Given the description of an element on the screen output the (x, y) to click on. 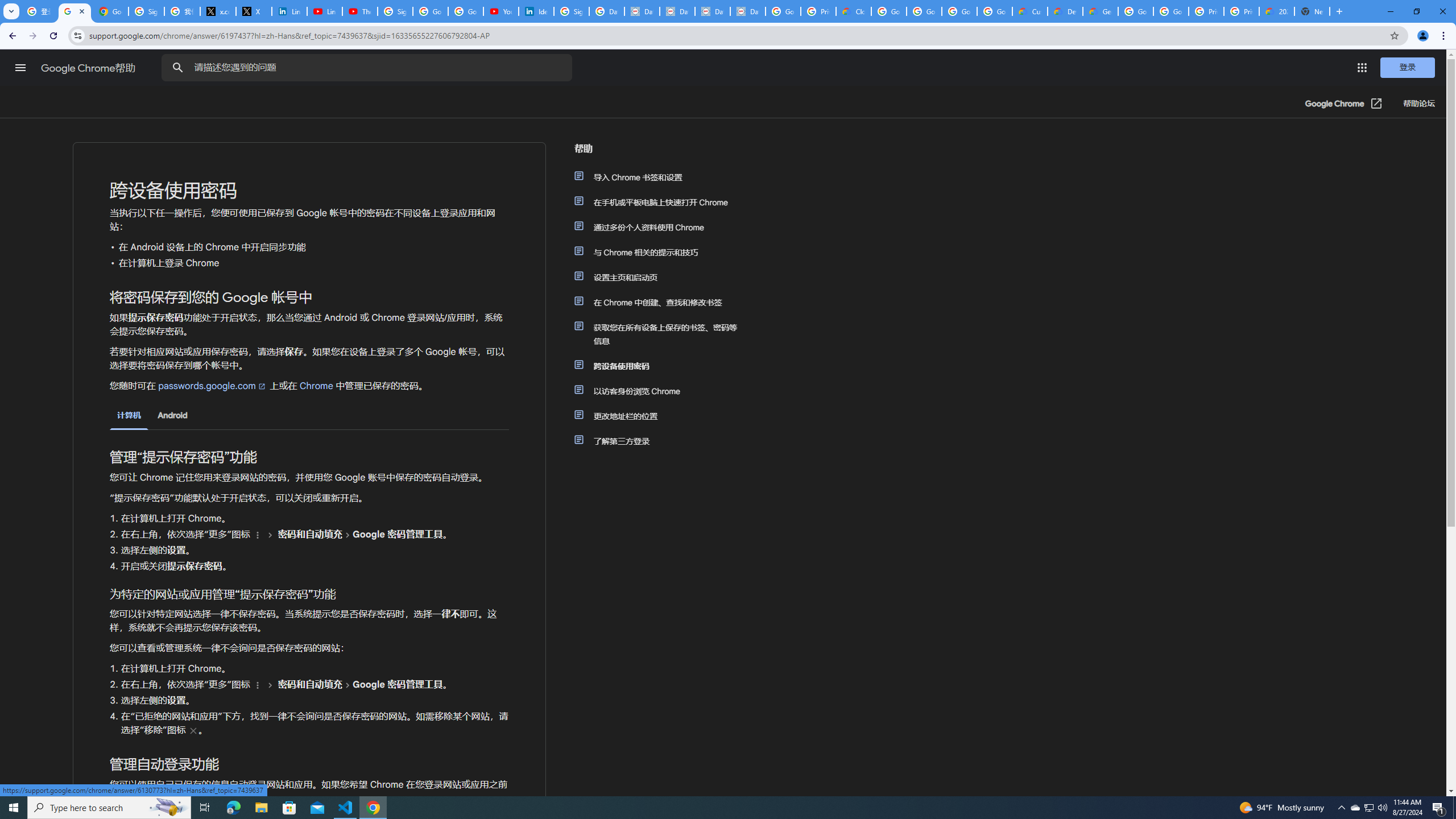
Data Privacy Framework (641, 11)
